Given the description of an element on the screen output the (x, y) to click on. 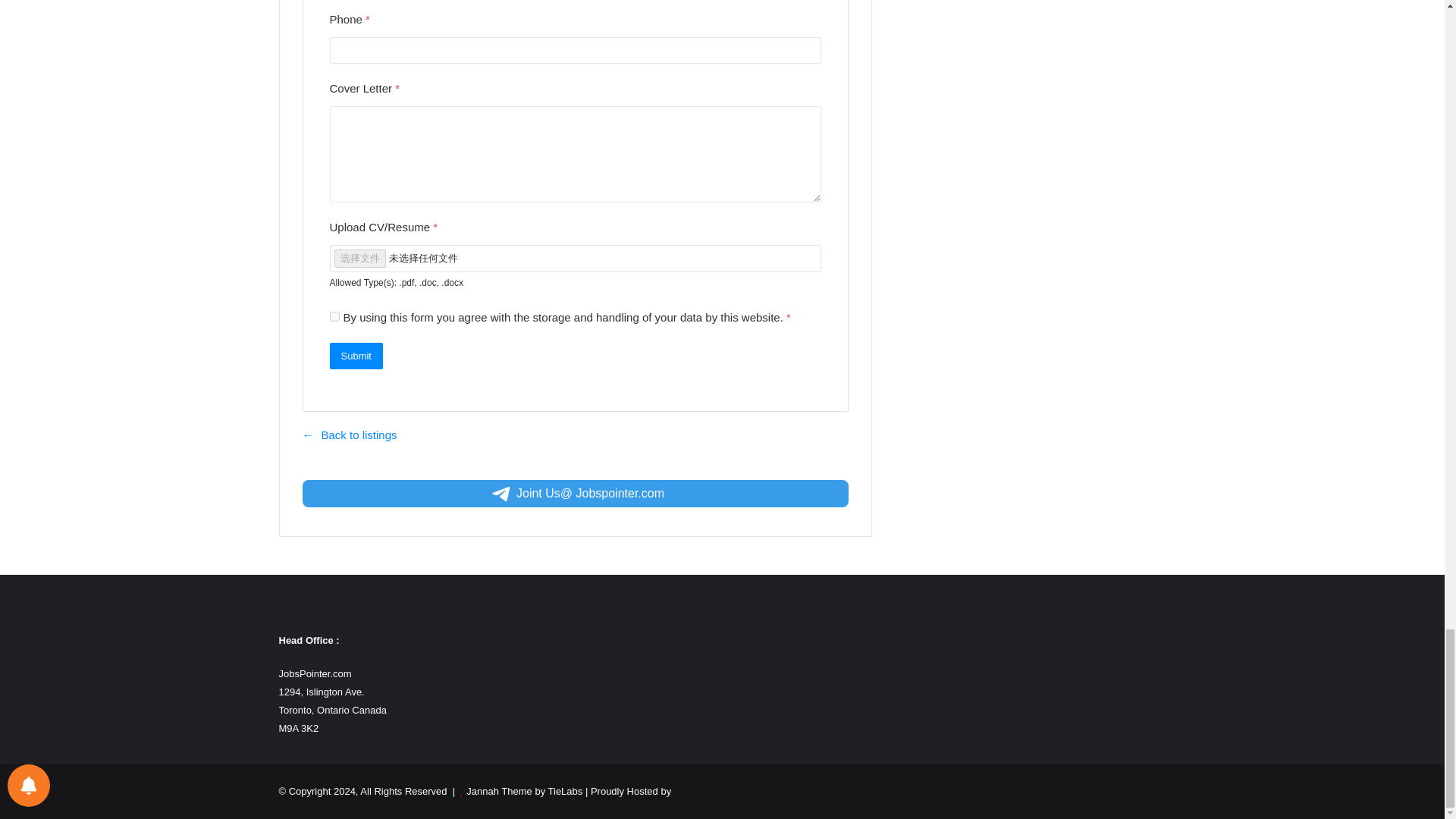
yes (334, 316)
Submit (355, 356)
Submit (355, 356)
Back to listings (348, 434)
